Given the description of an element on the screen output the (x, y) to click on. 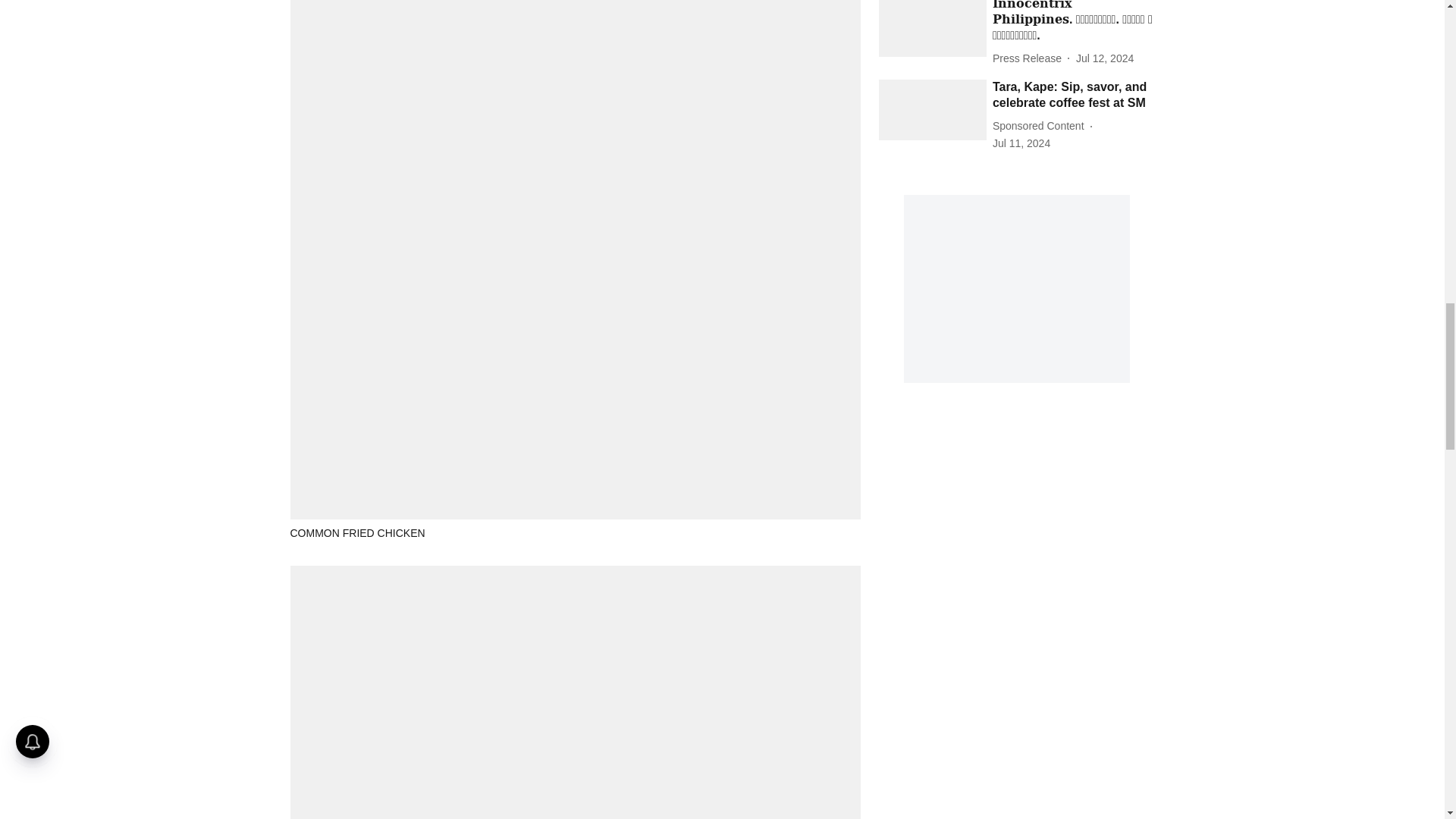
2024-07-11 00:59 (1020, 143)
2024-07-12 02:00 (1104, 58)
